Given the description of an element on the screen output the (x, y) to click on. 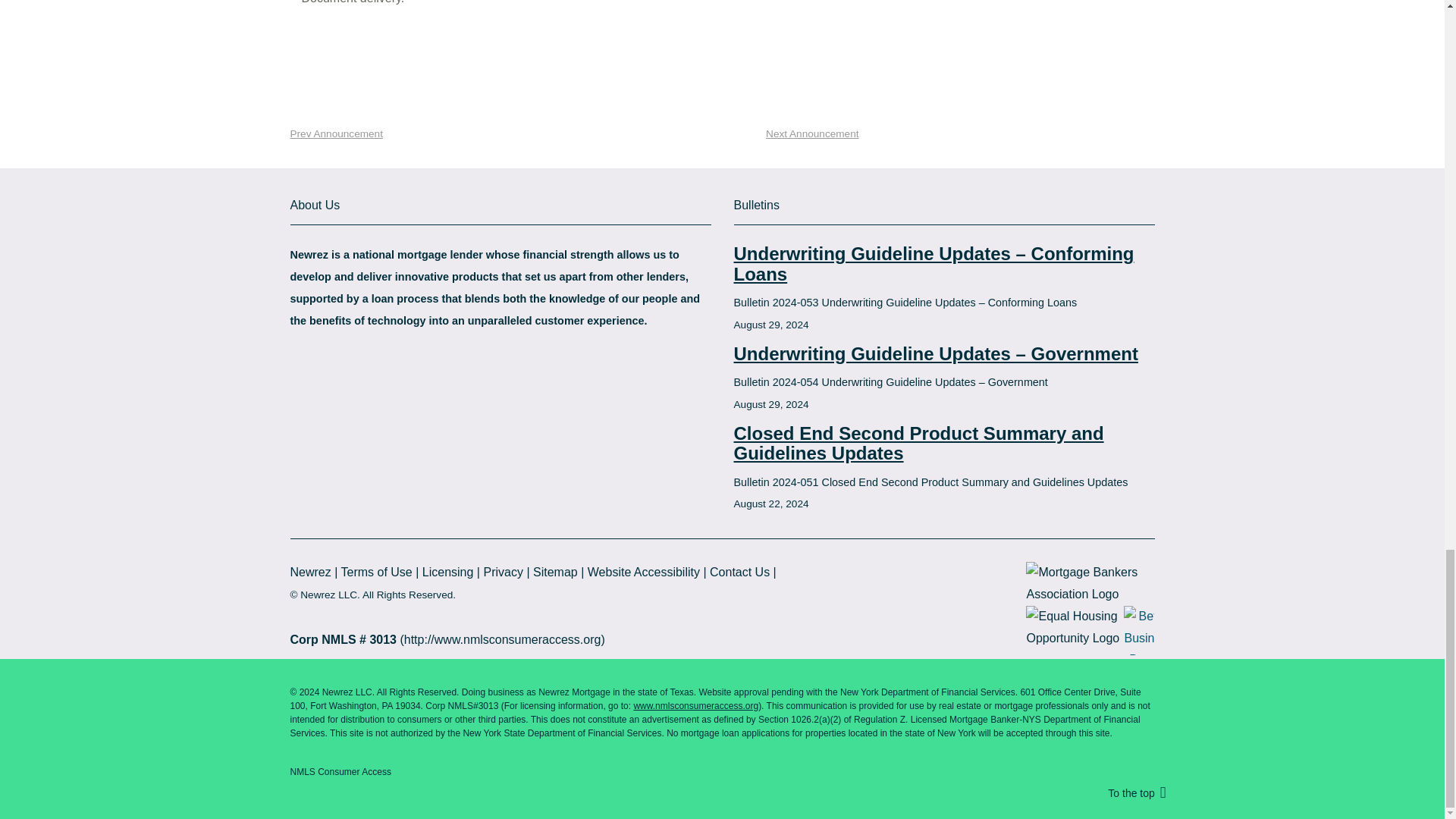
Sitemap (555, 571)
Prev Announcement (330, 134)
Closed End Second Product Summary and Guidelines Updates (943, 444)
Website Accessibility (644, 571)
Licensing (448, 571)
Terms of Use (376, 571)
Next Announcement (817, 134)
Newrez (309, 571)
Contact Us (740, 571)
Privacy (502, 571)
